Given the description of an element on the screen output the (x, y) to click on. 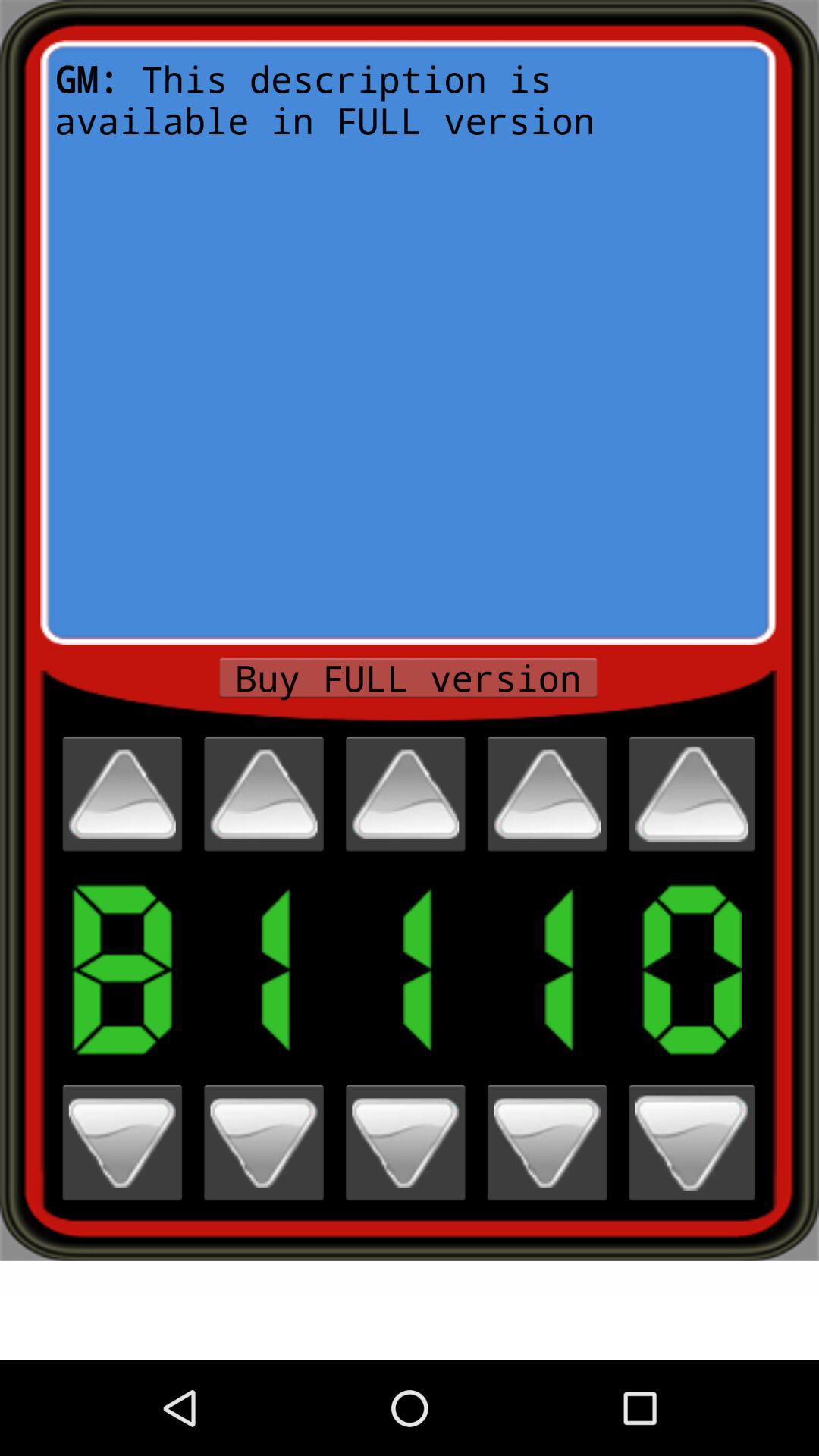
4th digit down (546, 1142)
